Given the description of an element on the screen output the (x, y) to click on. 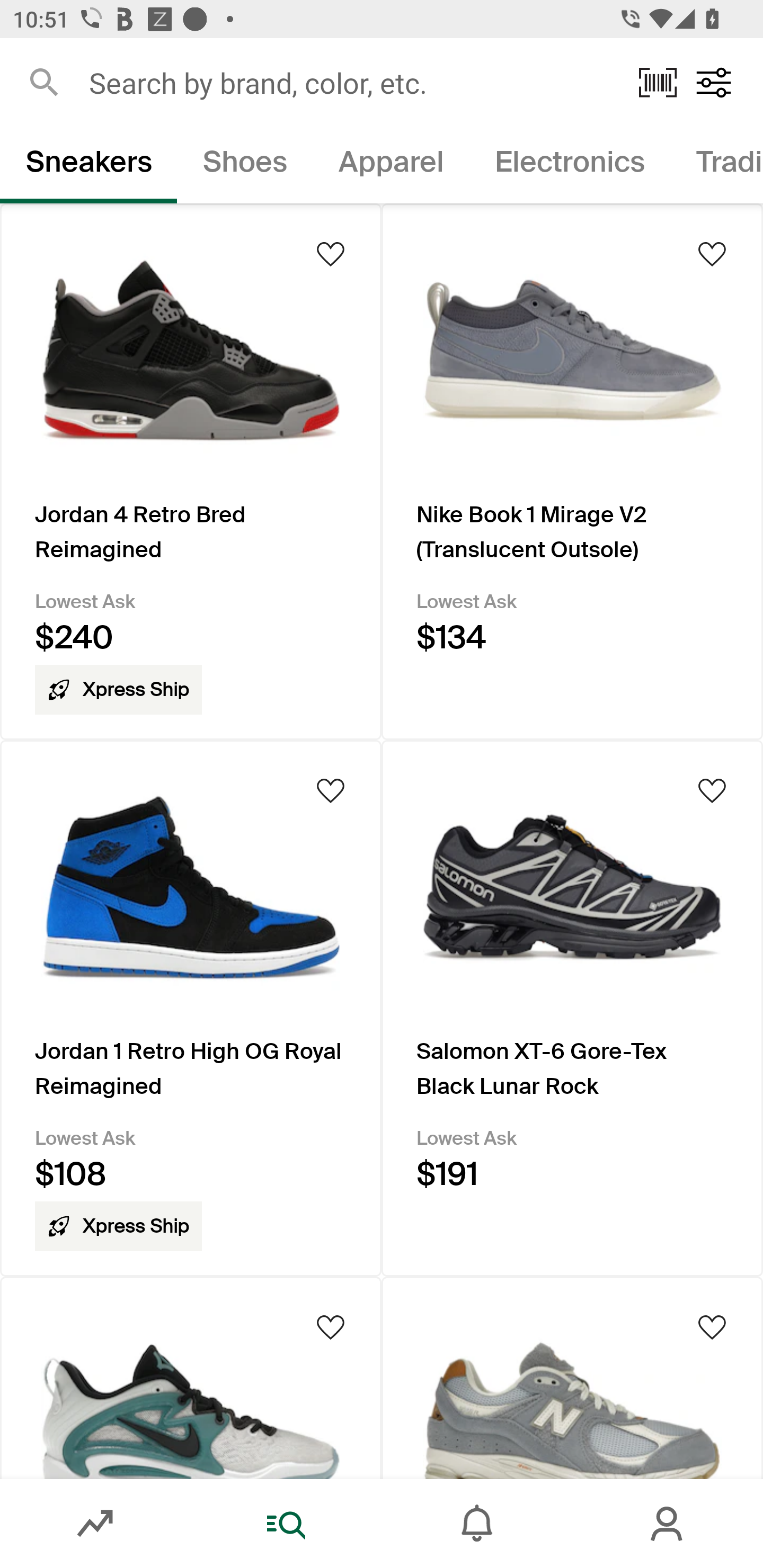
Search by brand, color, etc. (351, 82)
Shoes (244, 165)
Apparel (390, 165)
Electronics (569, 165)
Product Image (190, 1377)
Product Image (572, 1377)
Market (95, 1523)
Inbox (476, 1523)
Account (667, 1523)
